Given the description of an element on the screen output the (x, y) to click on. 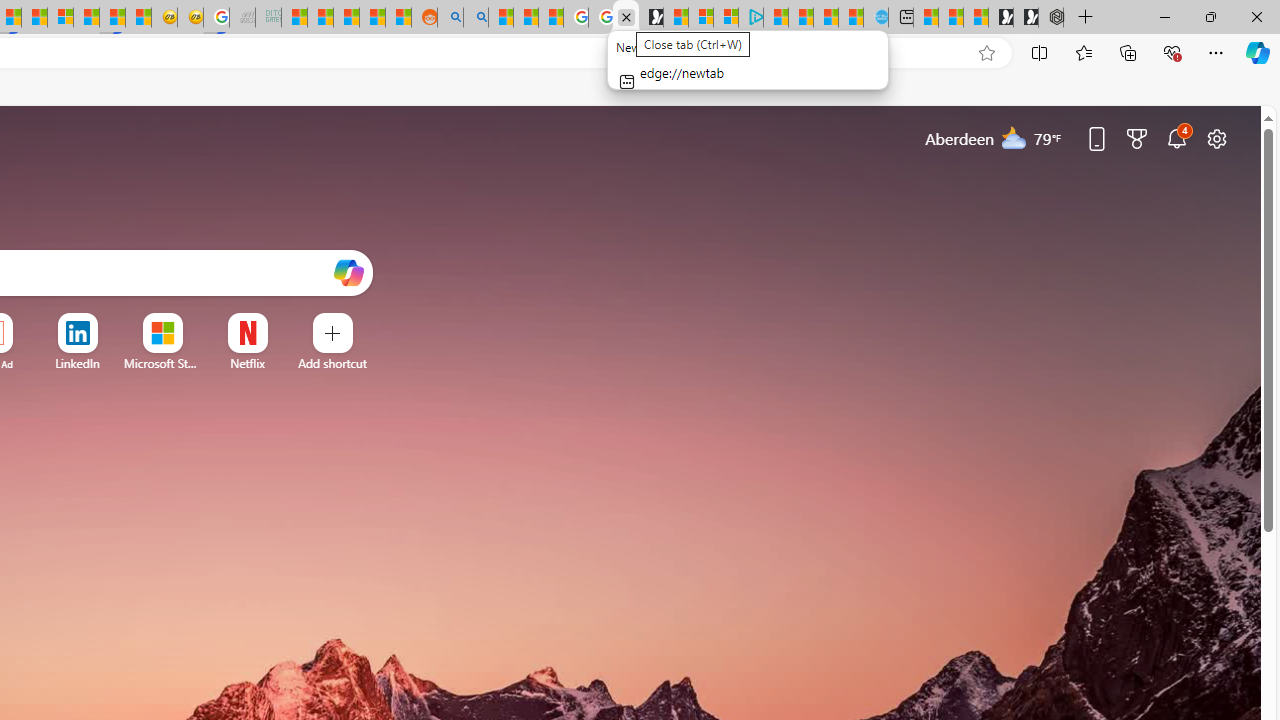
DITOGAMES AG Imprint - Sleeping (268, 17)
Nordace - Nordace Siena Is Not An Ordinary Backpack (1051, 17)
Ad (6, 363)
Open Copilot (347, 272)
Page settings (1216, 138)
